Given the description of an element on the screen output the (x, y) to click on. 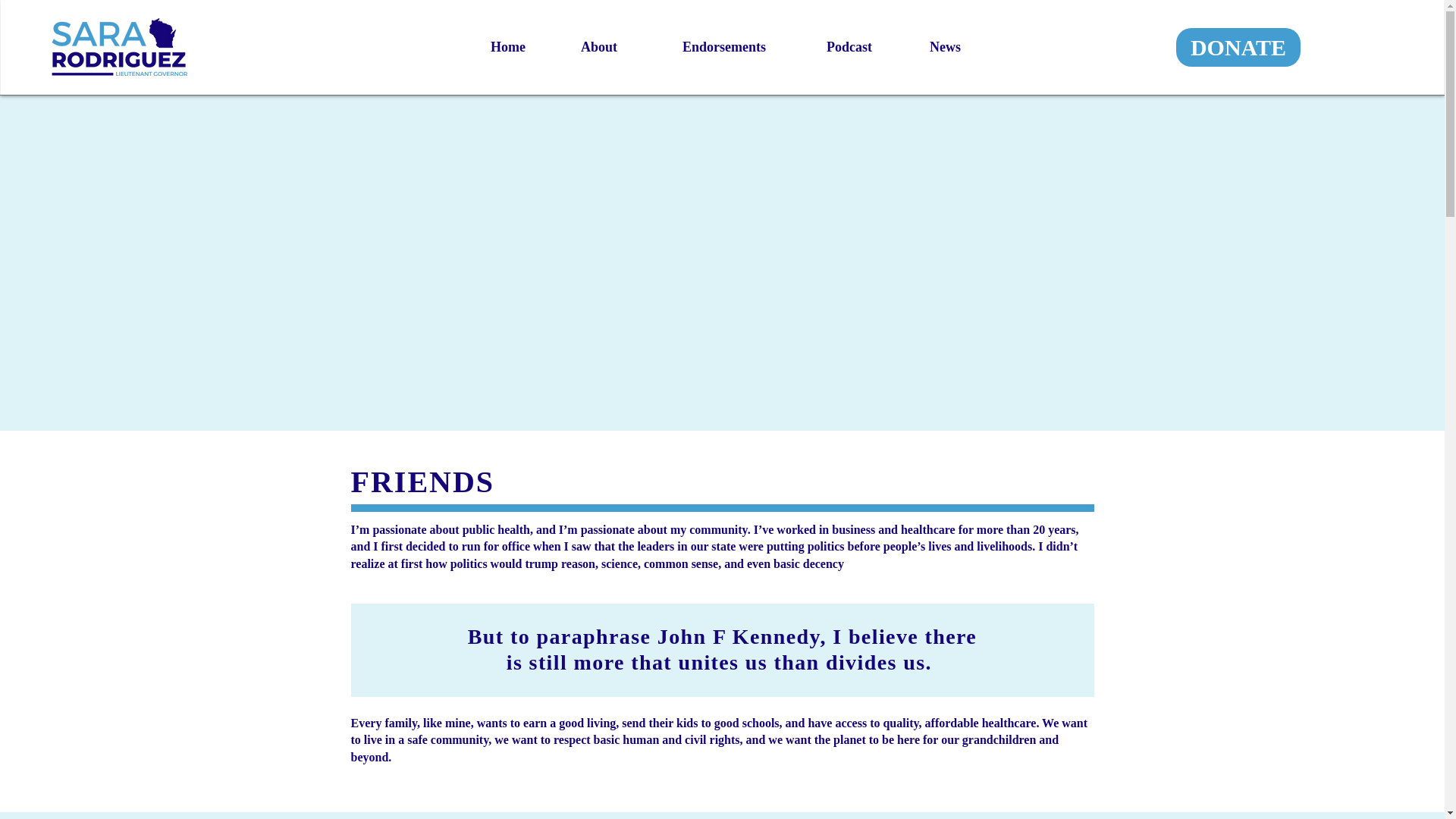
Podcast (830, 46)
Home (491, 46)
News (927, 46)
DONATE (1238, 46)
Endorsements (702, 46)
About (582, 46)
